Given the description of an element on the screen output the (x, y) to click on. 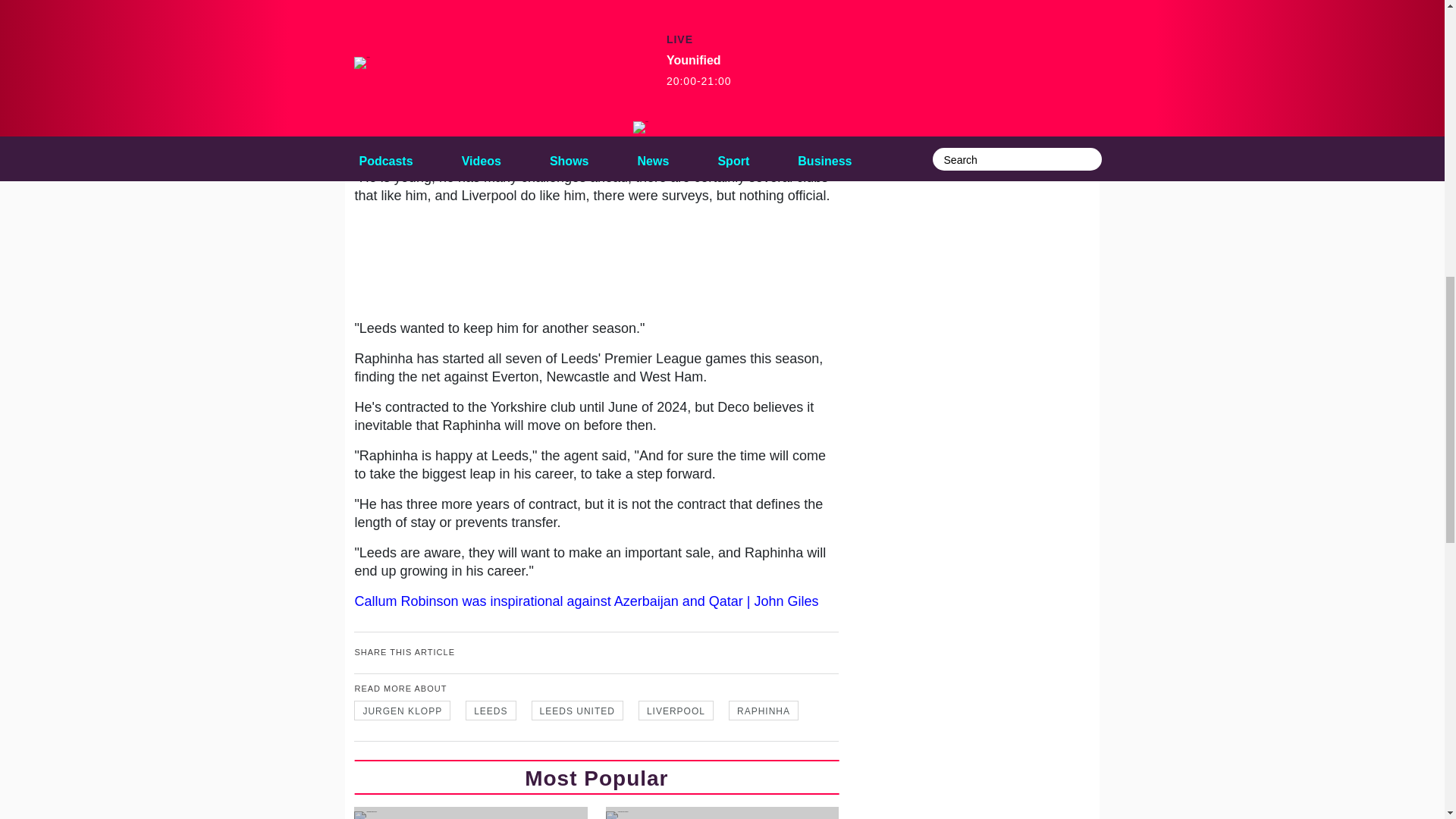
RAPHINHA (763, 710)
JURGEN KLOPP (401, 710)
LEEDS UNITED (577, 710)
LEEDS (490, 710)
Globo Esporte (519, 79)
LIVERPOOL (676, 710)
